Given the description of an element on the screen output the (x, y) to click on. 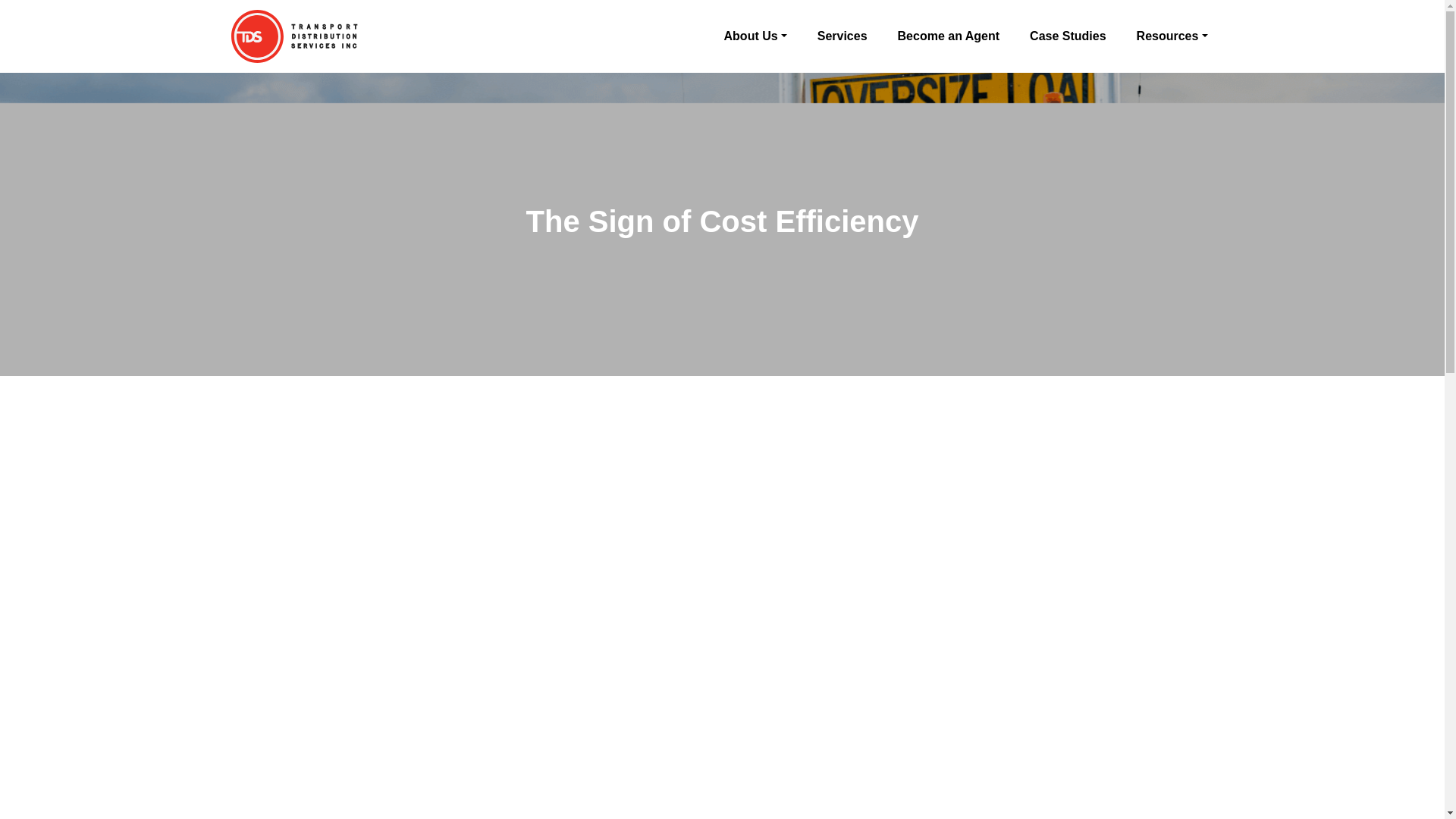
Become an Agent (939, 36)
Services (833, 36)
Case Studies (1059, 36)
Resources (1163, 36)
About Us (746, 36)
